Given the description of an element on the screen output the (x, y) to click on. 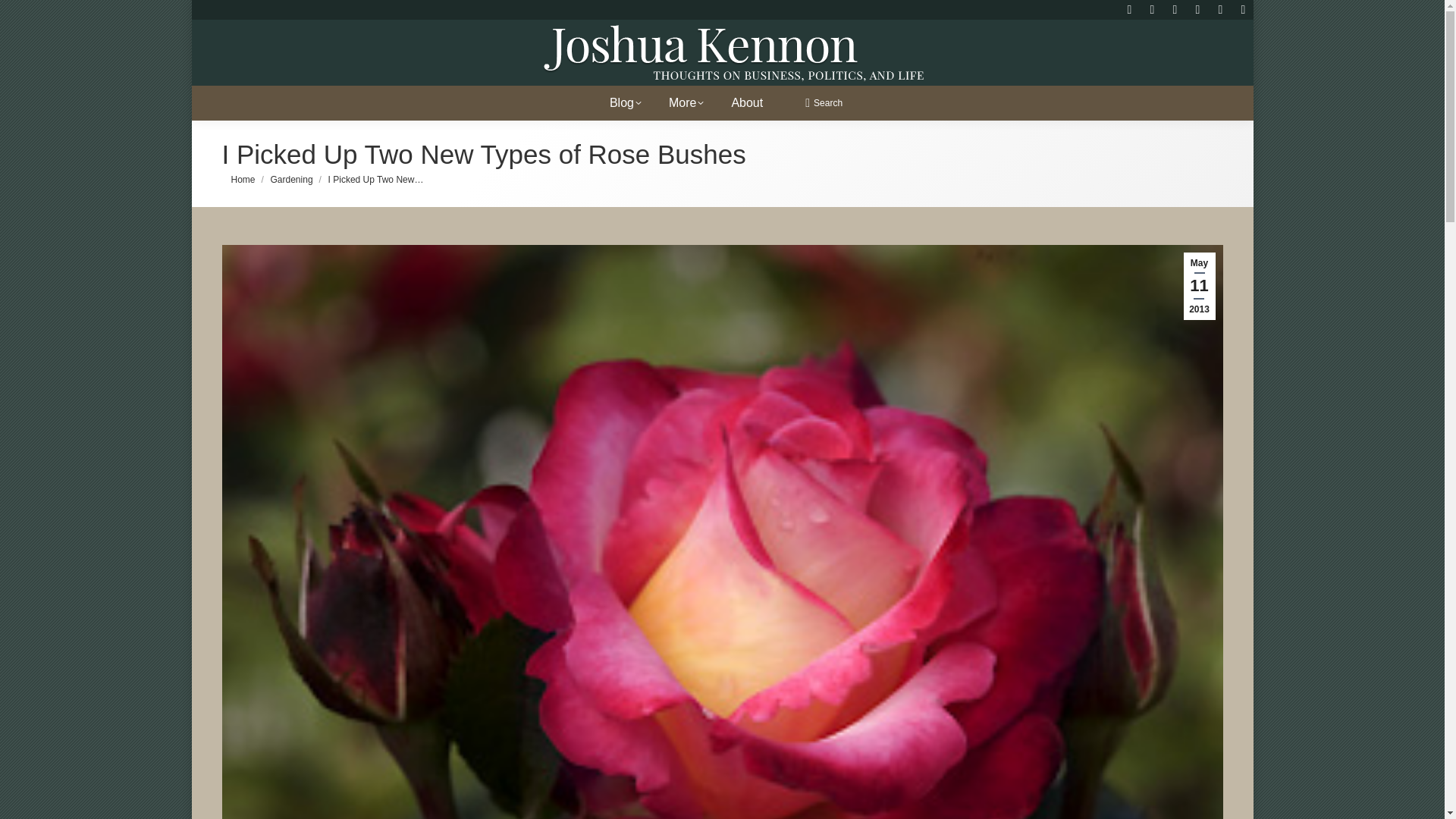
More (692, 97)
Blog (631, 97)
Rss page opens in new window (1128, 9)
Pinterest page opens in new window (1219, 9)
Instagram page opens in new window (1151, 9)
YouTube page opens in new window (1197, 9)
Rss page opens in new window (1128, 9)
X page opens in new window (1242, 9)
Instagram page opens in new window (1151, 9)
Facebook page opens in new window (1174, 9)
X page opens in new window (1242, 9)
YouTube page opens in new window (1197, 9)
Pinterest page opens in new window (1219, 9)
Facebook page opens in new window (1174, 9)
